Given the description of an element on the screen output the (x, y) to click on. 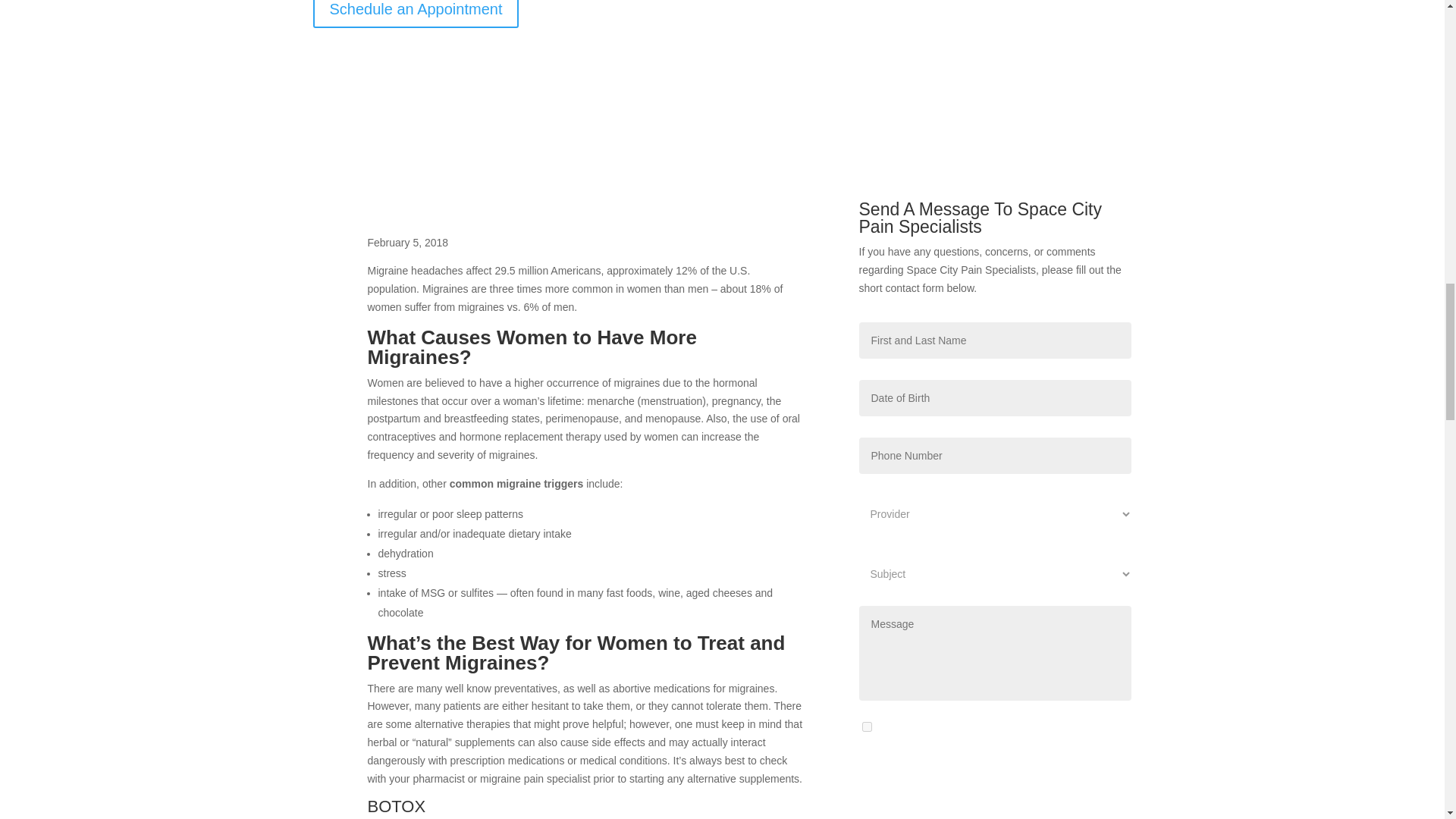
1 (865, 726)
